Given the description of an element on the screen output the (x, y) to click on. 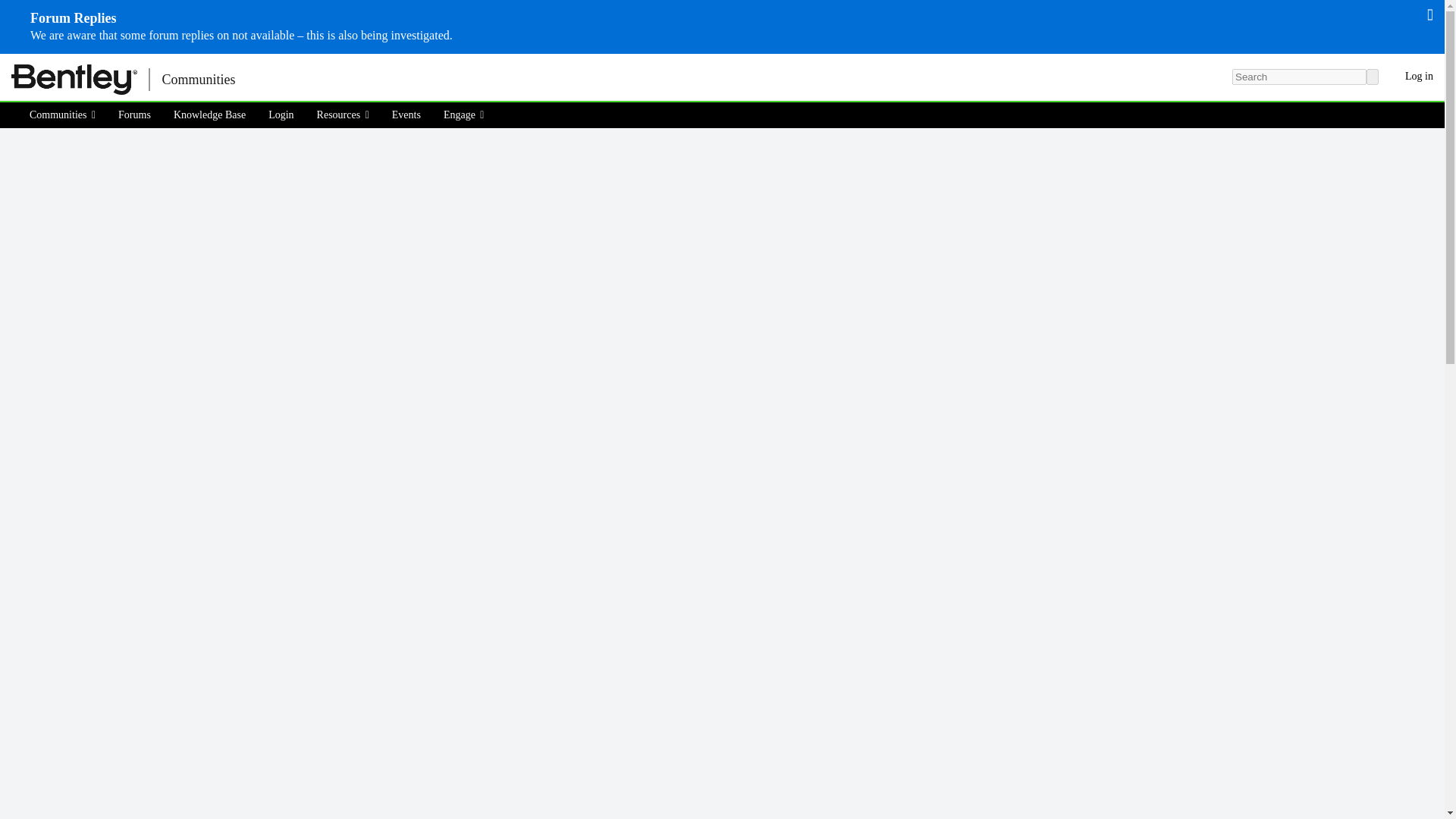
Skip to main content (8, 63)
Engage (464, 114)
Events (406, 114)
Login (280, 114)
Communities (197, 79)
Forums (133, 114)
Resources (342, 114)
Dismiss announcement Forum Replies (1430, 14)
Communities (67, 114)
Toggle navigation (273, 79)
Knowledge Base (209, 114)
